Given the description of an element on the screen output the (x, y) to click on. 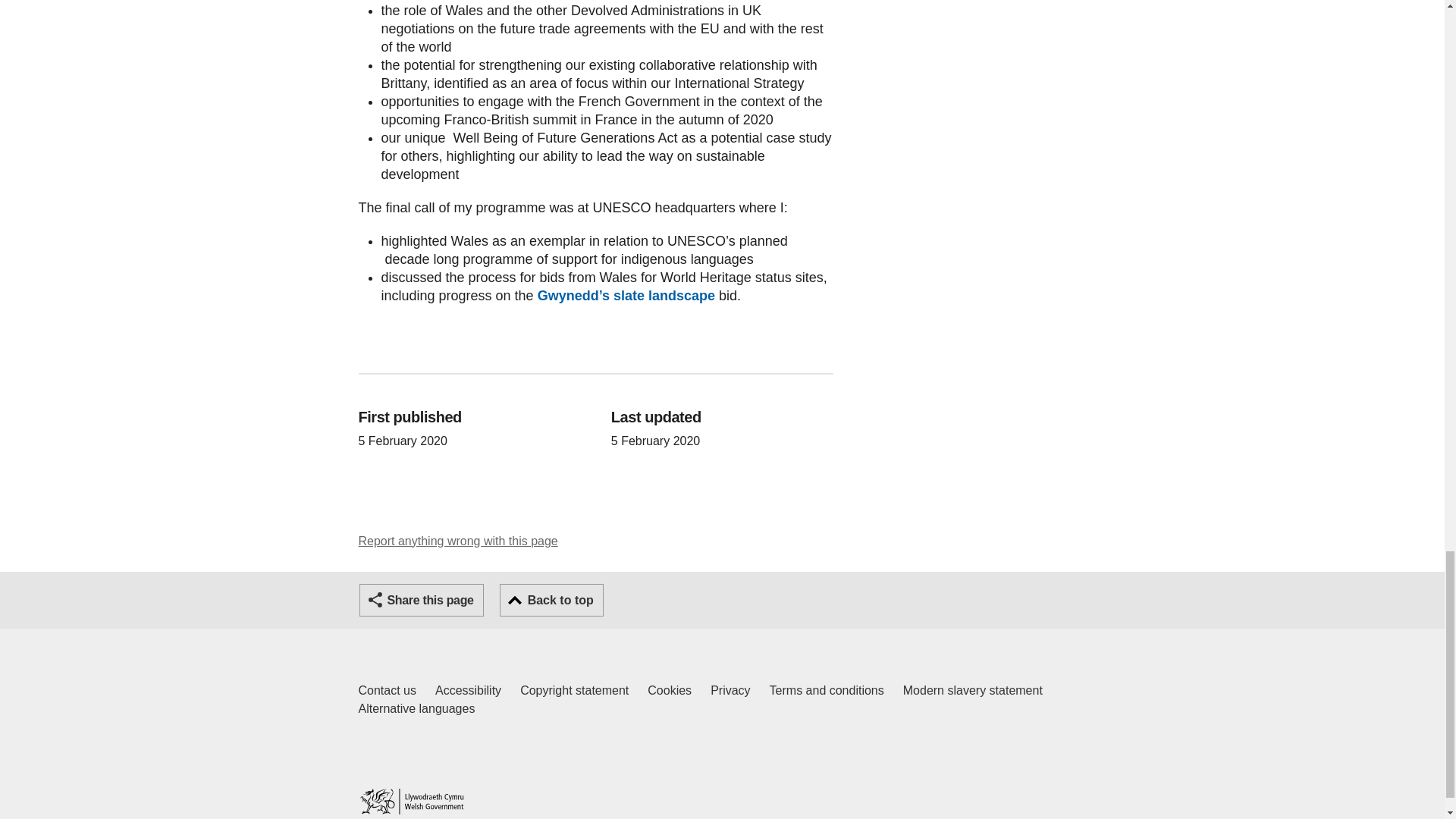
Share this page (421, 599)
Report anything wrong with this page (386, 690)
Alternative languages (457, 540)
Privacy (416, 709)
Back to top (729, 690)
Terms and conditions (551, 599)
Modern slavery statement (826, 690)
Cookies (972, 690)
Accessibility (669, 690)
